Given the description of an element on the screen output the (x, y) to click on. 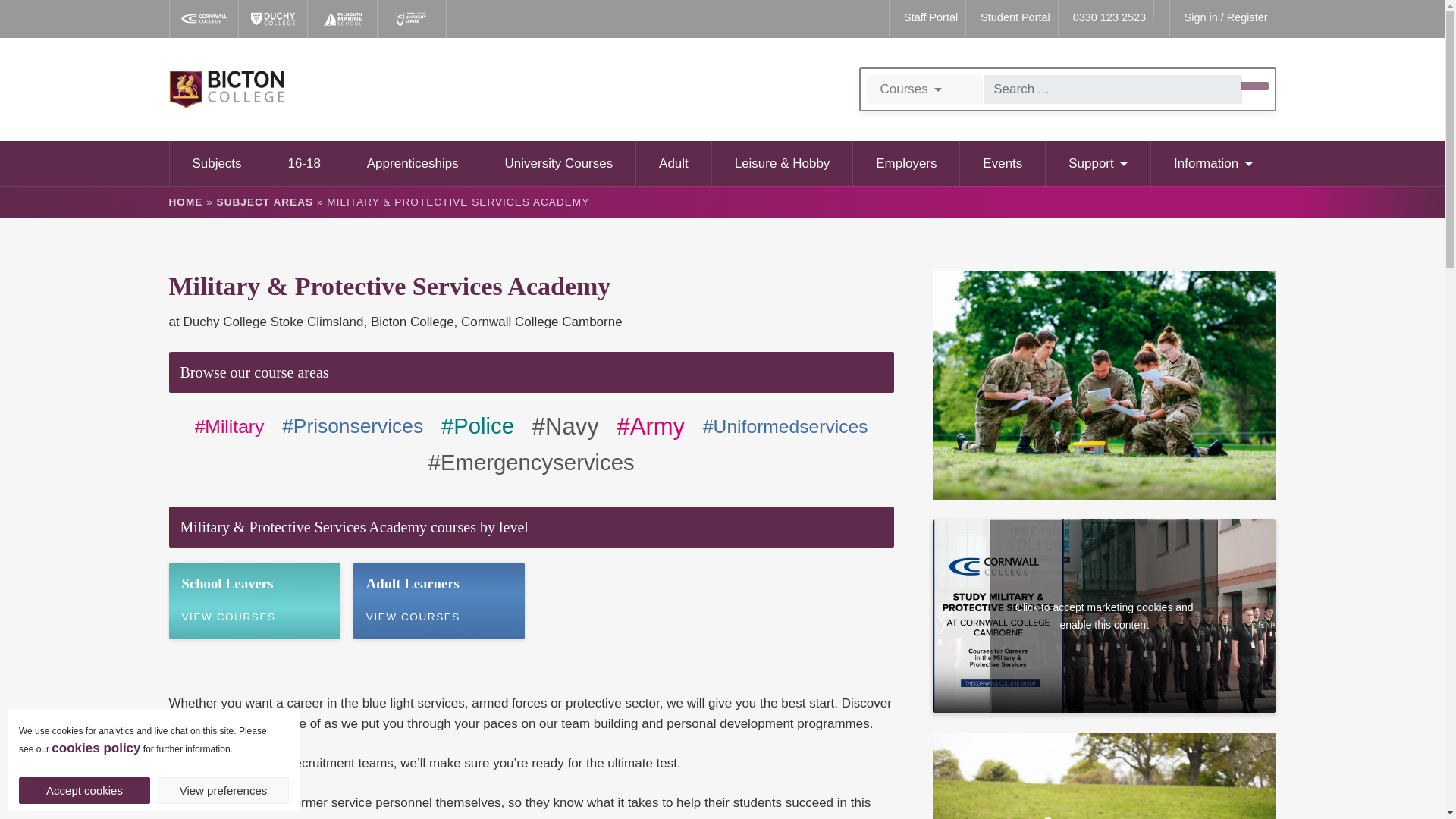
cookies policy (94, 748)
Apprenticeships (412, 162)
Employers (906, 162)
Student Portal (1011, 18)
University Courses (559, 162)
Subjects (216, 162)
View preferences (222, 790)
0330 123 2523 (1105, 18)
Accept cookies (83, 790)
16-18 (303, 162)
Adult (673, 162)
Events (1002, 162)
Courses (923, 89)
Staff Portal (926, 18)
